Given the description of an element on the screen output the (x, y) to click on. 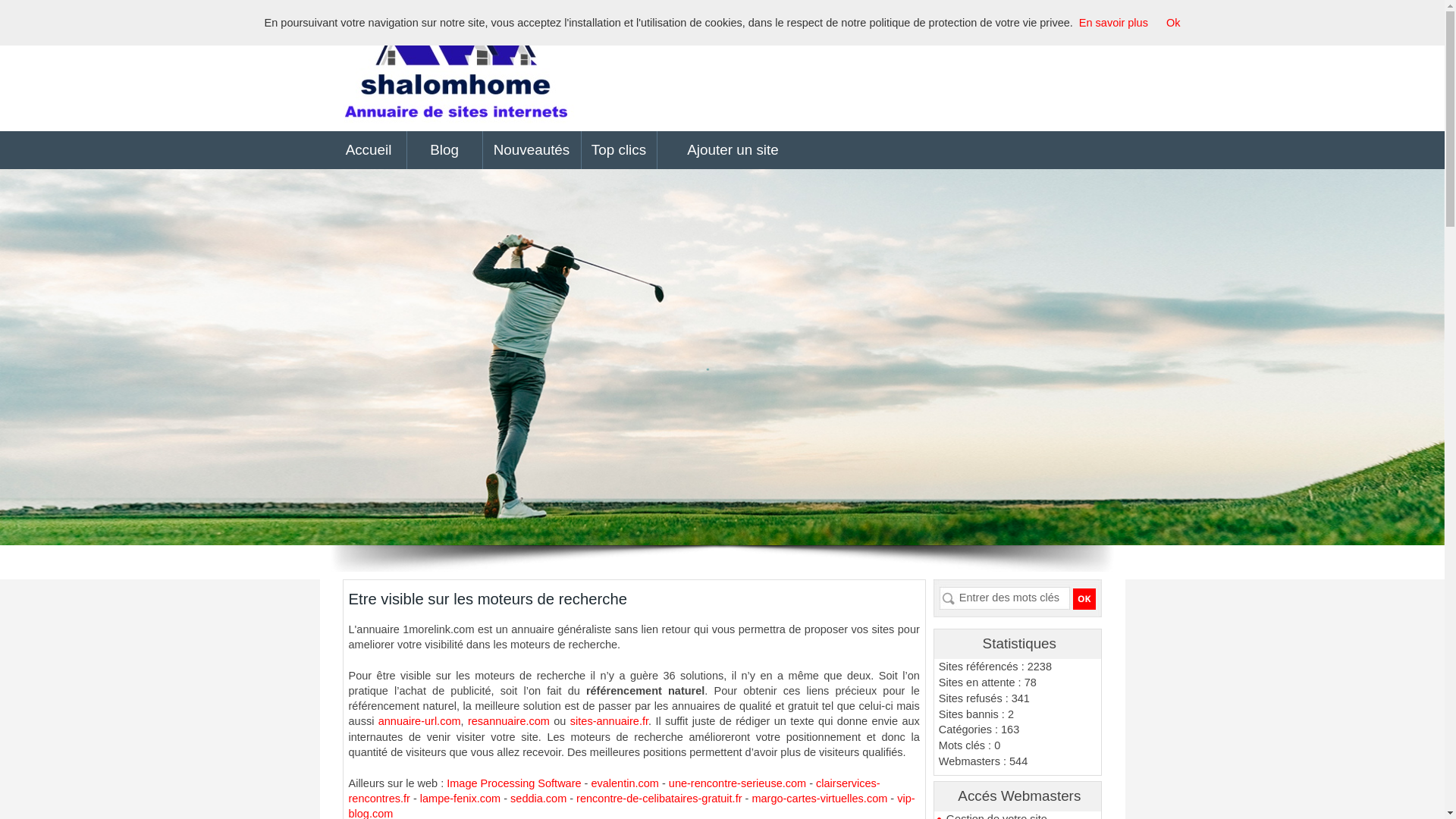
evalentin.com Element type: text (624, 783)
sites-annuaire.fr Element type: text (609, 721)
annuaire-url.com Element type: text (419, 721)
resannuaire.com Element type: text (508, 721)
rencontre-de-celibataires-gratuit.fr Element type: text (658, 798)
lampe-fenix.com Element type: text (460, 798)
Ajouter un site Element type: text (732, 150)
Ok Element type: text (1173, 22)
1morelink.com - Annuaire de sites internet Element type: hover (454, 65)
Accueil Element type: text (367, 150)
Top clics Element type: text (617, 150)
En savoir plus Element type: text (1113, 22)
seddia.com Element type: text (538, 798)
Image Processing Software Element type: text (513, 783)
clairservices-rencontres.fr Element type: text (614, 790)
Blog Element type: text (443, 150)
une-rencontre-serieuse.com Element type: text (737, 783)
margo-cartes-virtuelles.com Element type: text (819, 798)
